Given the description of an element on the screen output the (x, y) to click on. 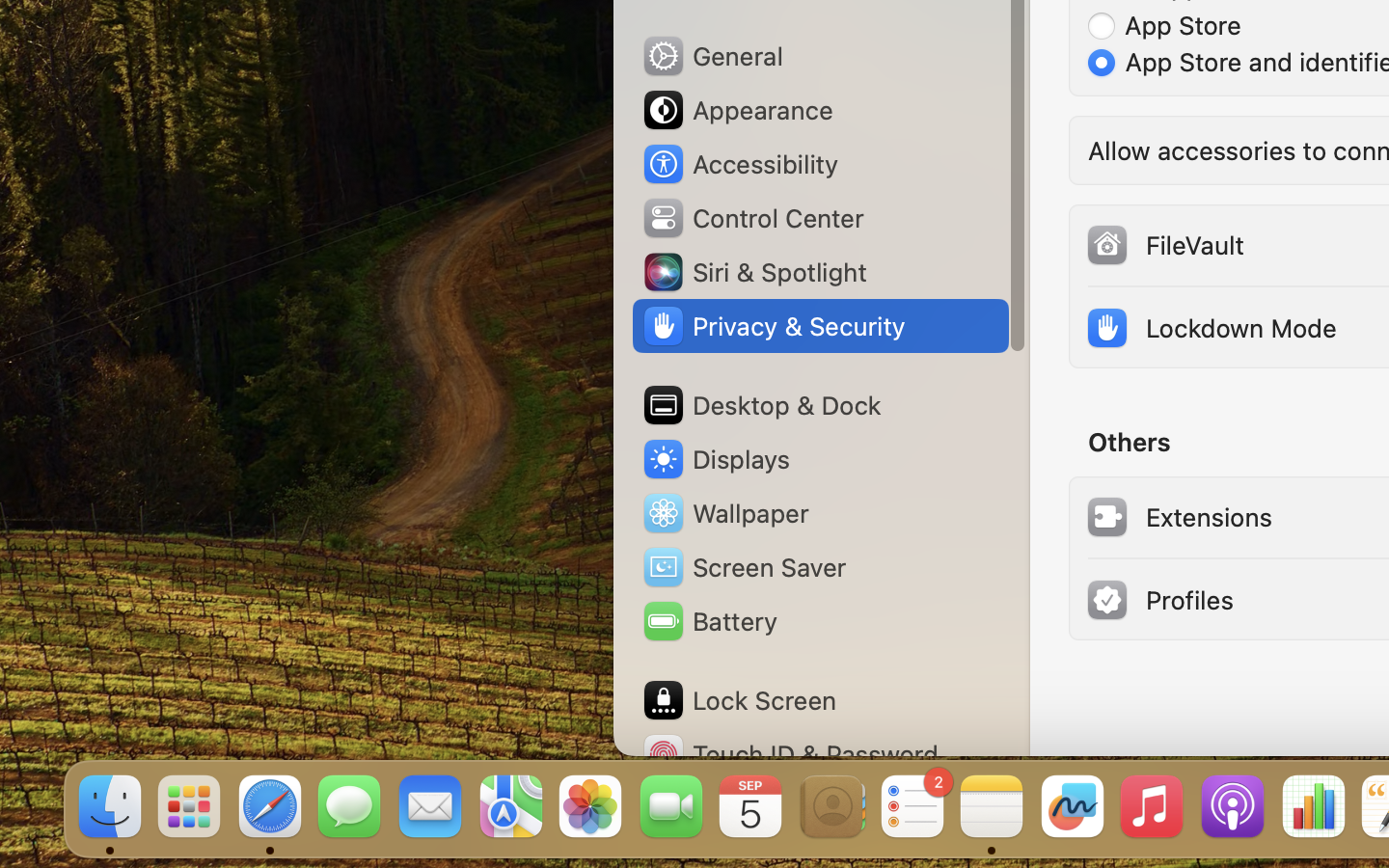
Touch ID & Password Element type: AXStaticText (789, 754)
Privacy & Security Element type: AXStaticText (772, 325)
Desktop & Dock Element type: AXStaticText (760, 404)
Screen Saver Element type: AXStaticText (743, 566)
